Given the description of an element on the screen output the (x, y) to click on. 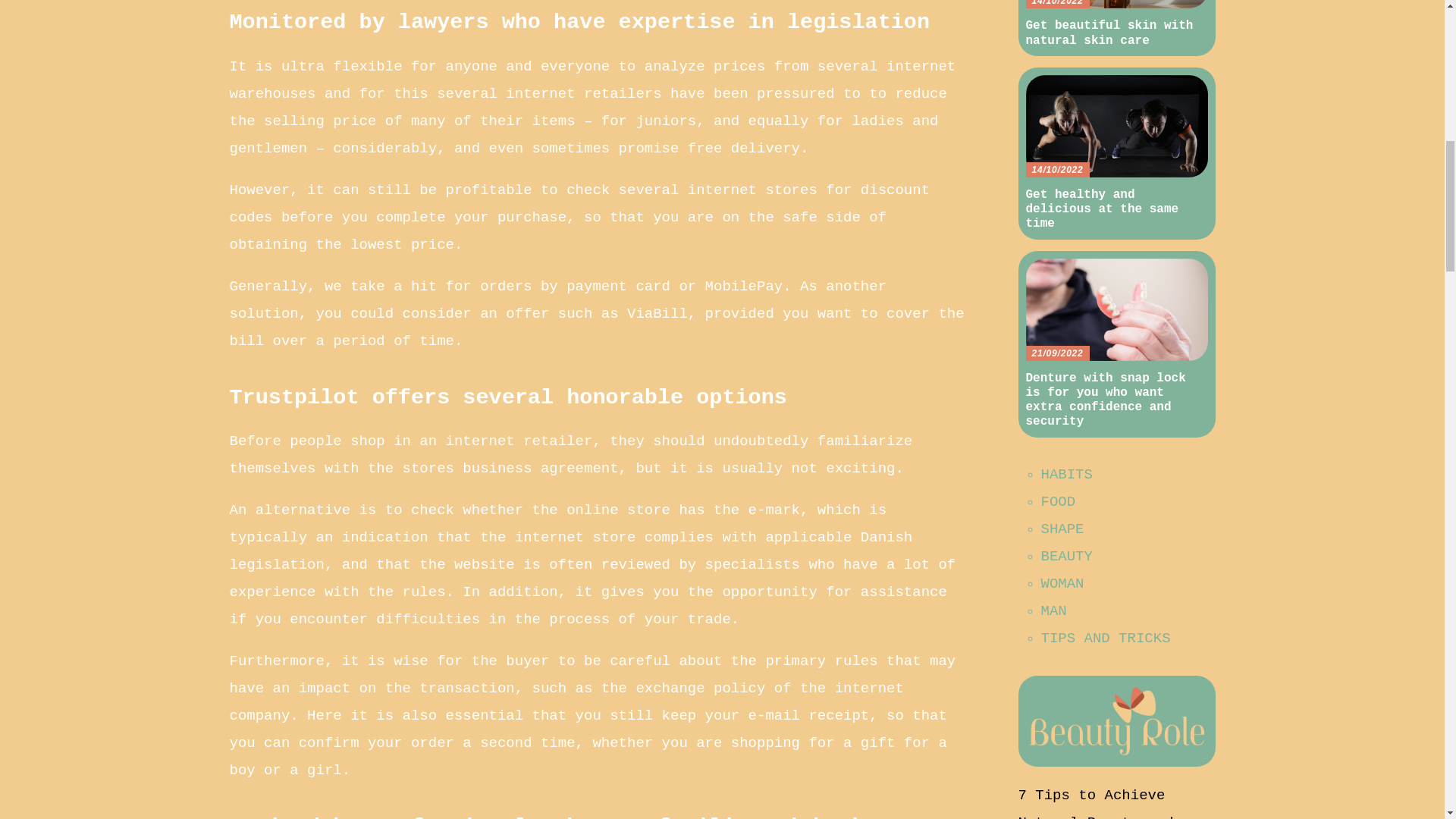
7 Tips to Achieve Natural Beauty and Glow (1095, 803)
SHAPE (1062, 528)
TIPS AND TRICKS (1105, 637)
BEAUTY (1066, 555)
HABITS (1066, 474)
WOMAN (1062, 582)
FOOD (1058, 501)
MAN (1053, 610)
